Given the description of an element on the screen output the (x, y) to click on. 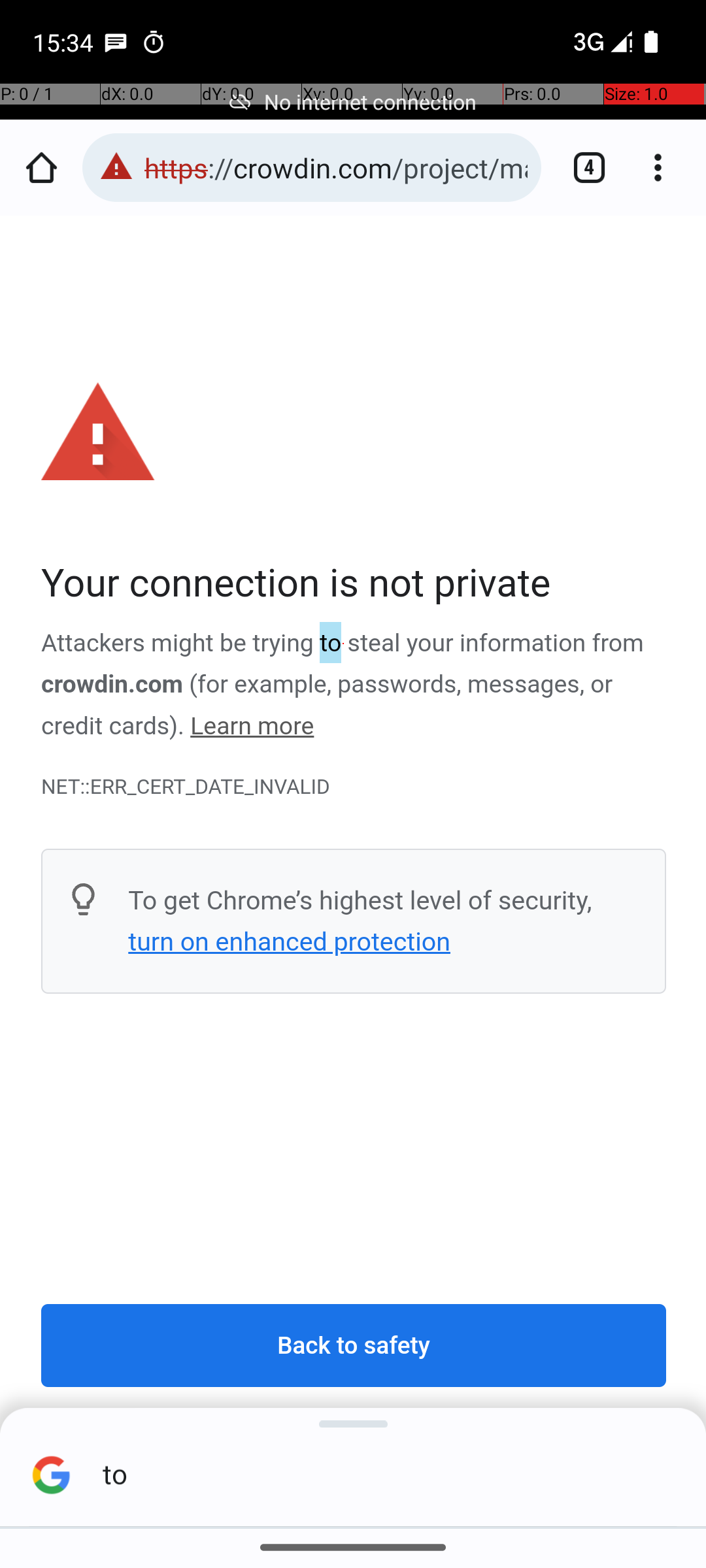
https://crowdin.com/project/markor/invite Element type: android.widget.EditText (335, 167)
crowdin.com Element type: android.widget.TextView (112, 684)
